Given the description of an element on the screen output the (x, y) to click on. 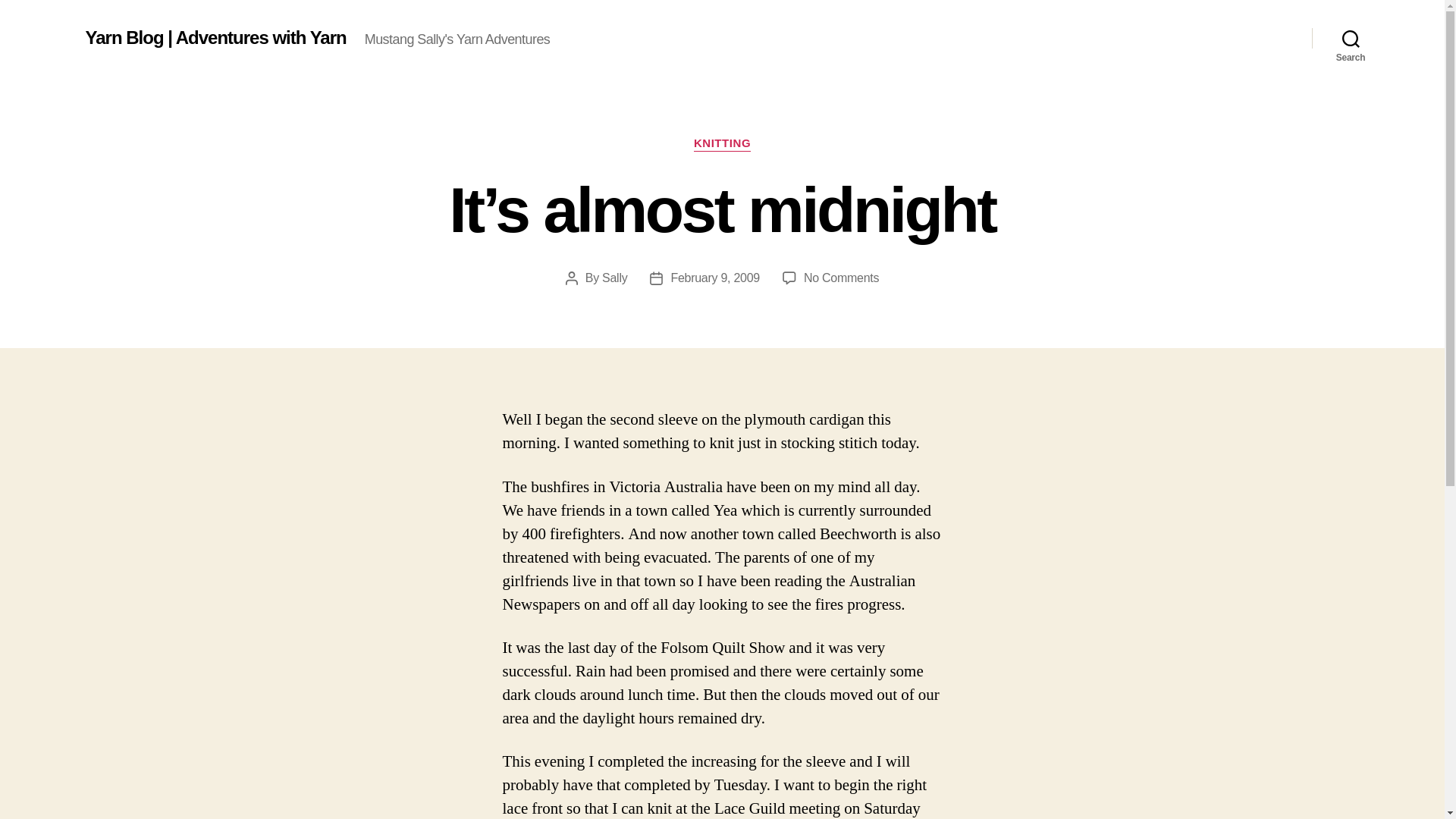
Search (1350, 37)
KNITTING (722, 143)
Sally (614, 277)
February 9, 2009 (714, 277)
